Given the description of an element on the screen output the (x, y) to click on. 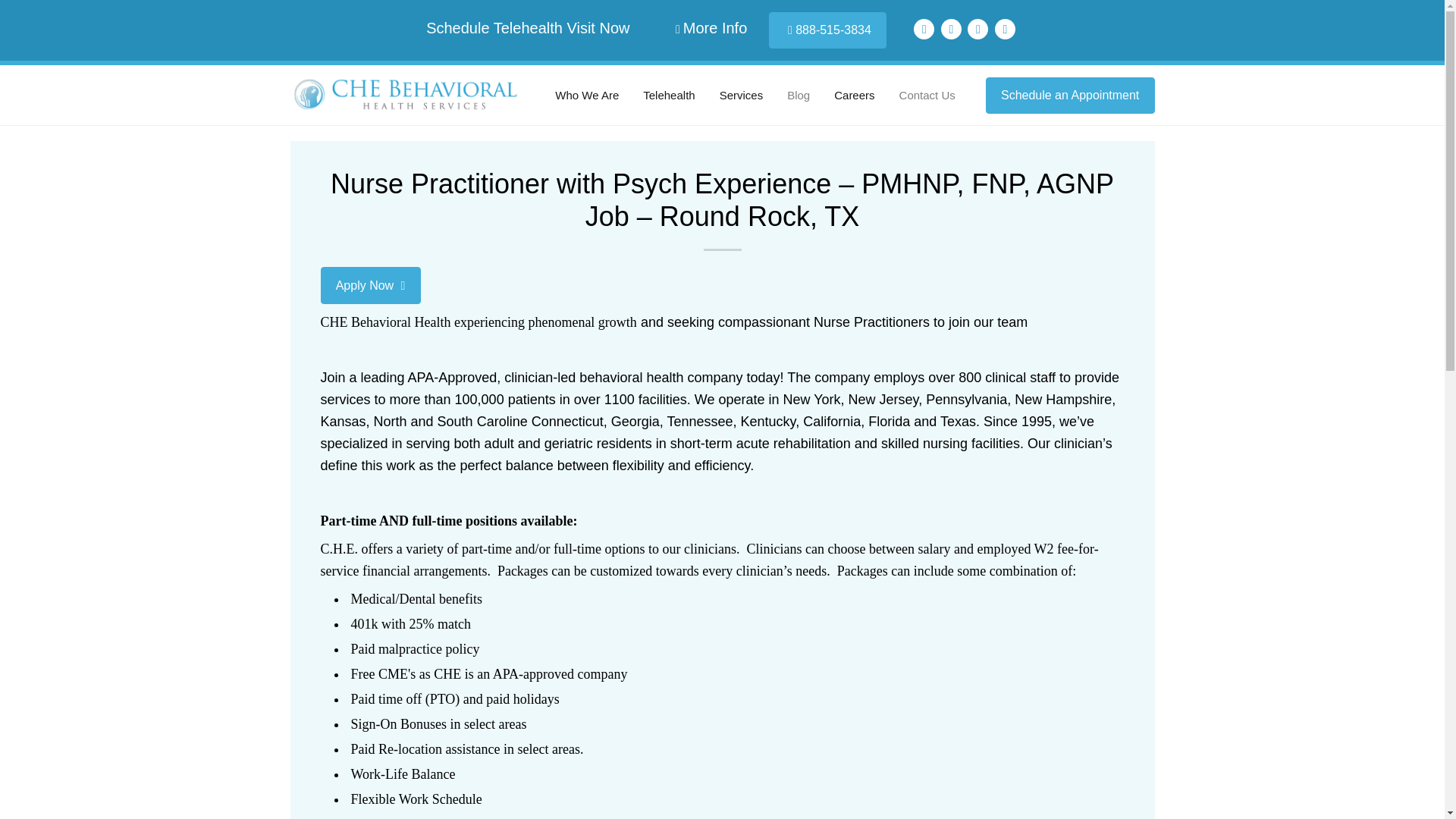
Apply Now (370, 284)
888-515-3834 (827, 30)
Careers (854, 95)
More Info (710, 27)
Contact Us (926, 95)
Telehealth (668, 95)
Blog (797, 95)
Schedule an Appointment (1069, 94)
Who We Are (586, 95)
Services (741, 95)
